Given the description of an element on the screen output the (x, y) to click on. 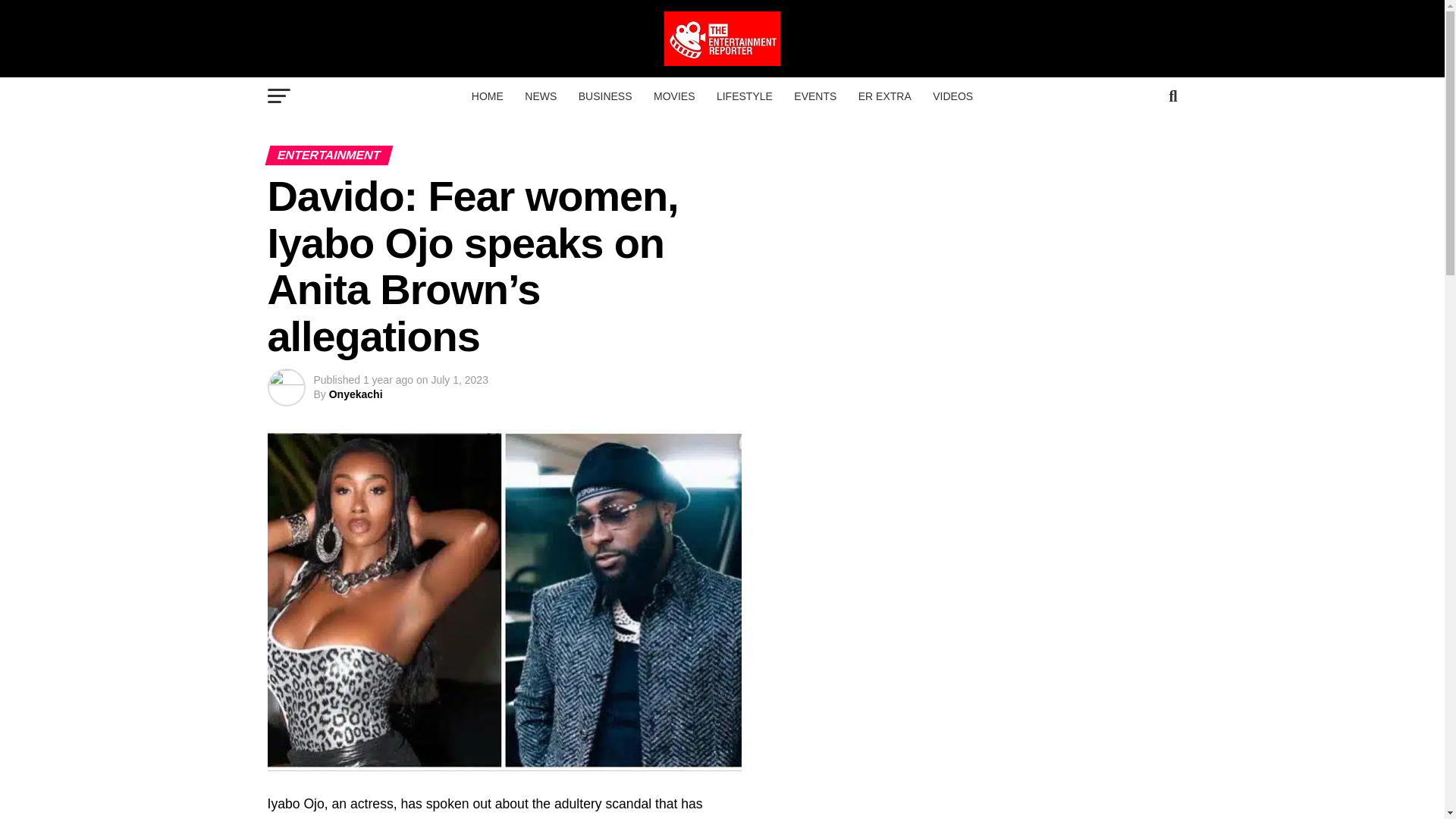
EVENTS (814, 95)
BUSINESS (605, 95)
ER EXTRA (884, 95)
NEWS (540, 95)
MOVIES (674, 95)
LIFESTYLE (744, 95)
HOME (487, 95)
